Given the description of an element on the screen output the (x, y) to click on. 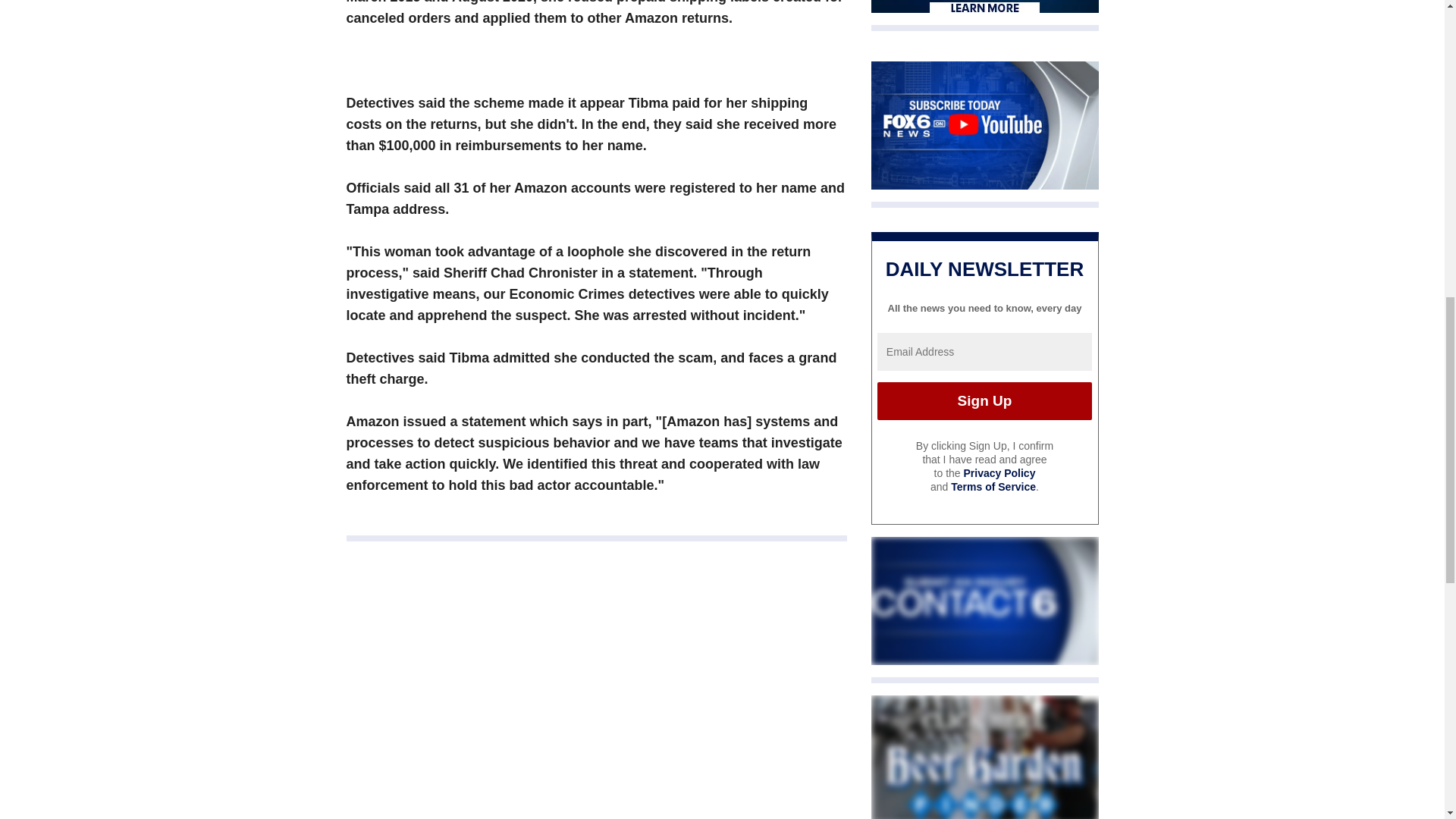
Sign Up (984, 401)
